Given the description of an element on the screen output the (x, y) to click on. 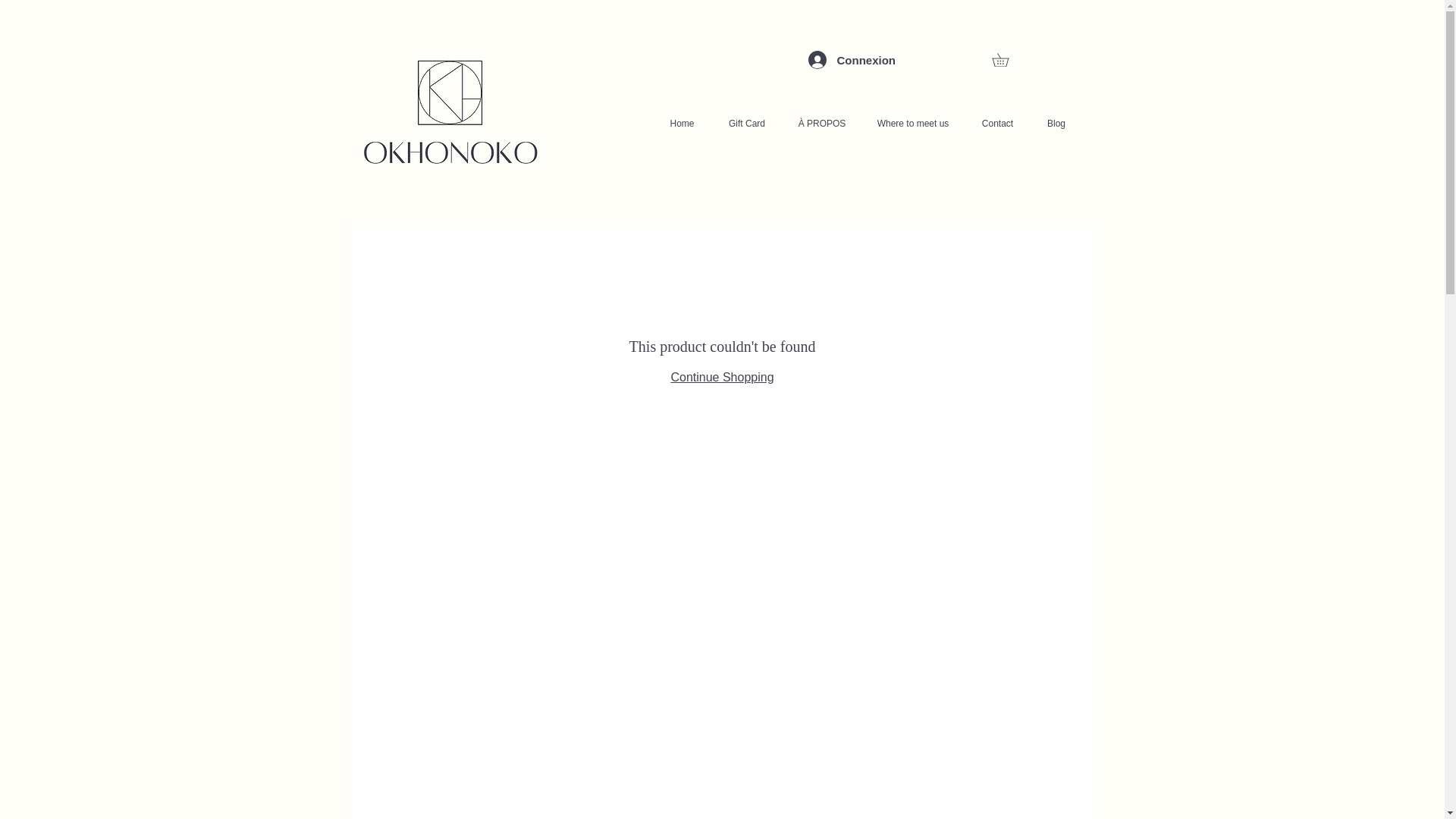
Connexion (830, 59)
Where to meet us (913, 123)
Contact (996, 123)
Gift Card (747, 123)
Continue Shopping (721, 377)
